Given the description of an element on the screen output the (x, y) to click on. 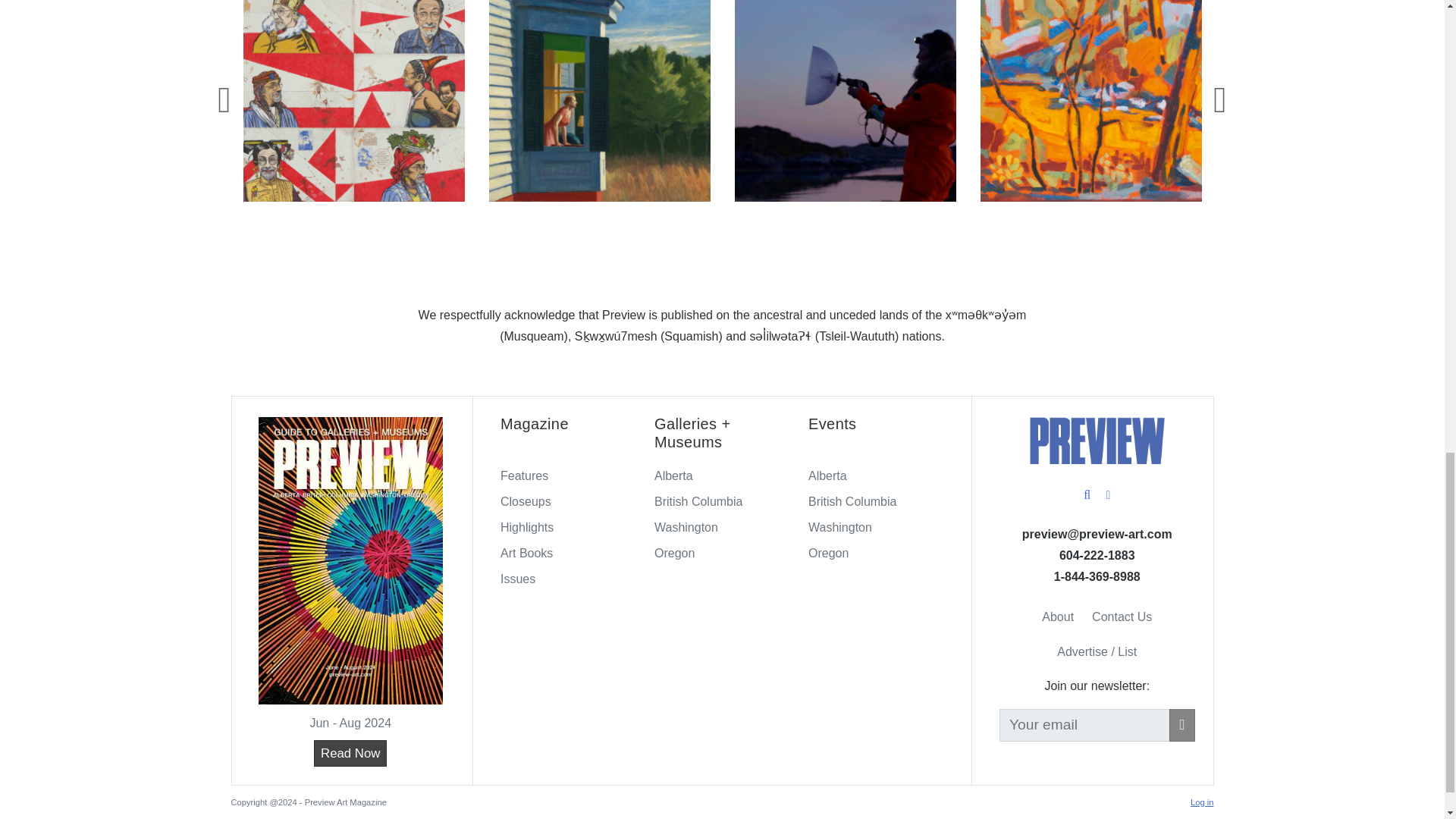
Read Between Bodies (844, 100)
Previous Slide (223, 99)
